Given the description of an element on the screen output the (x, y) to click on. 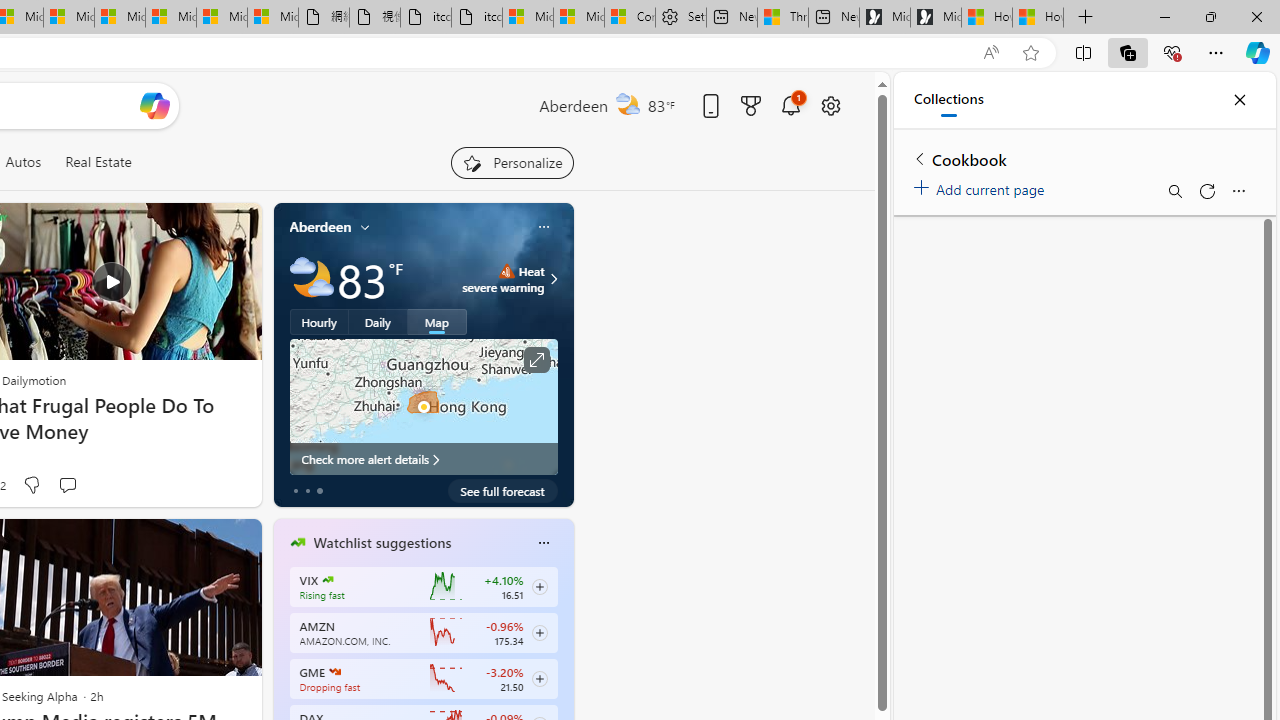
Three Ways To Stop Sweating So Much (782, 17)
next (563, 670)
Watchlist suggestions (382, 543)
Class: follow-button  m (539, 678)
Aberdeen (320, 227)
My location (365, 227)
Check more alert details (423, 458)
Daily (378, 321)
GAMESTOP CORP. (334, 672)
